Given the description of an element on the screen output the (x, y) to click on. 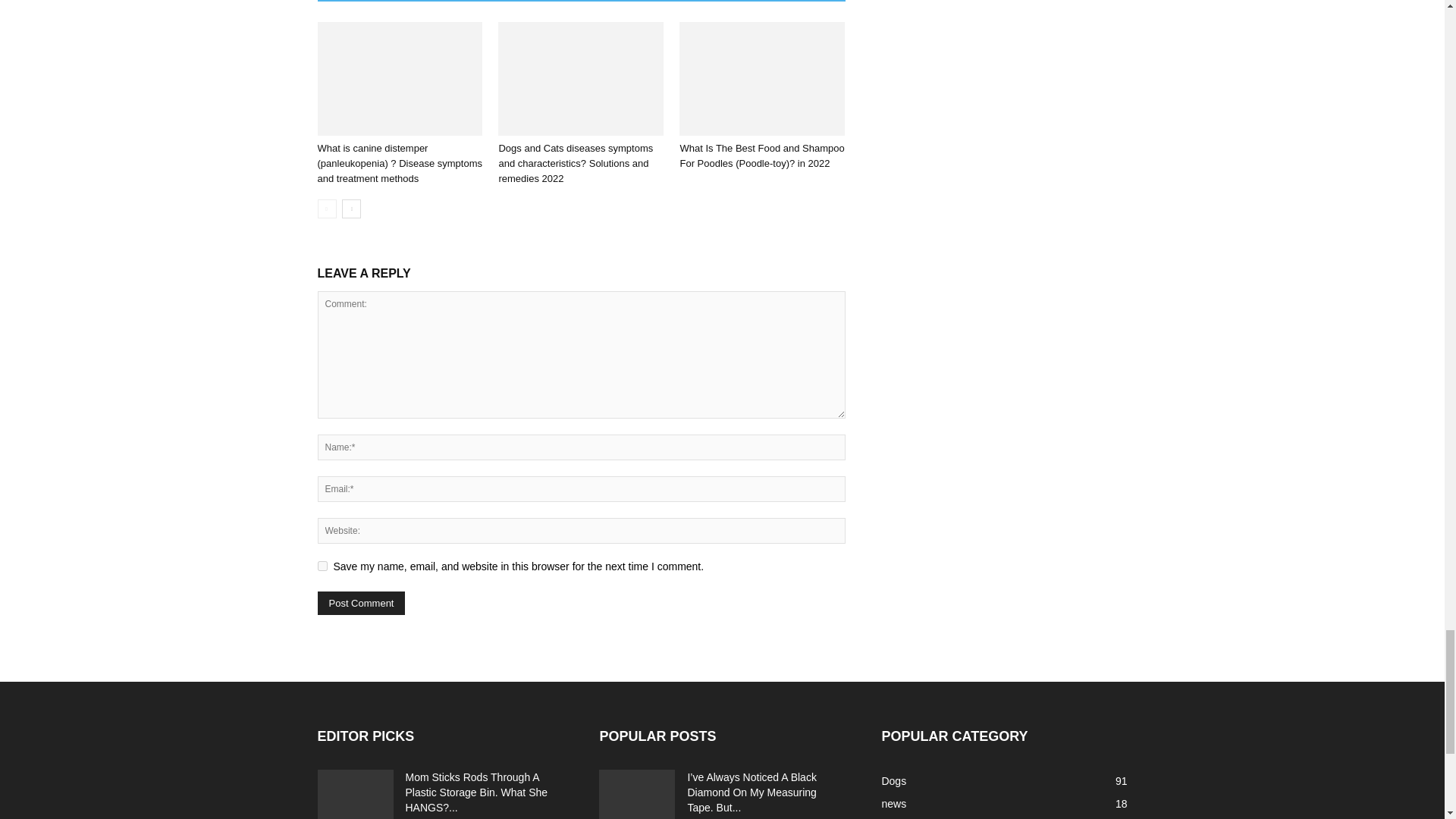
yes (321, 565)
Post Comment (360, 603)
